Given the description of an element on the screen output the (x, y) to click on. 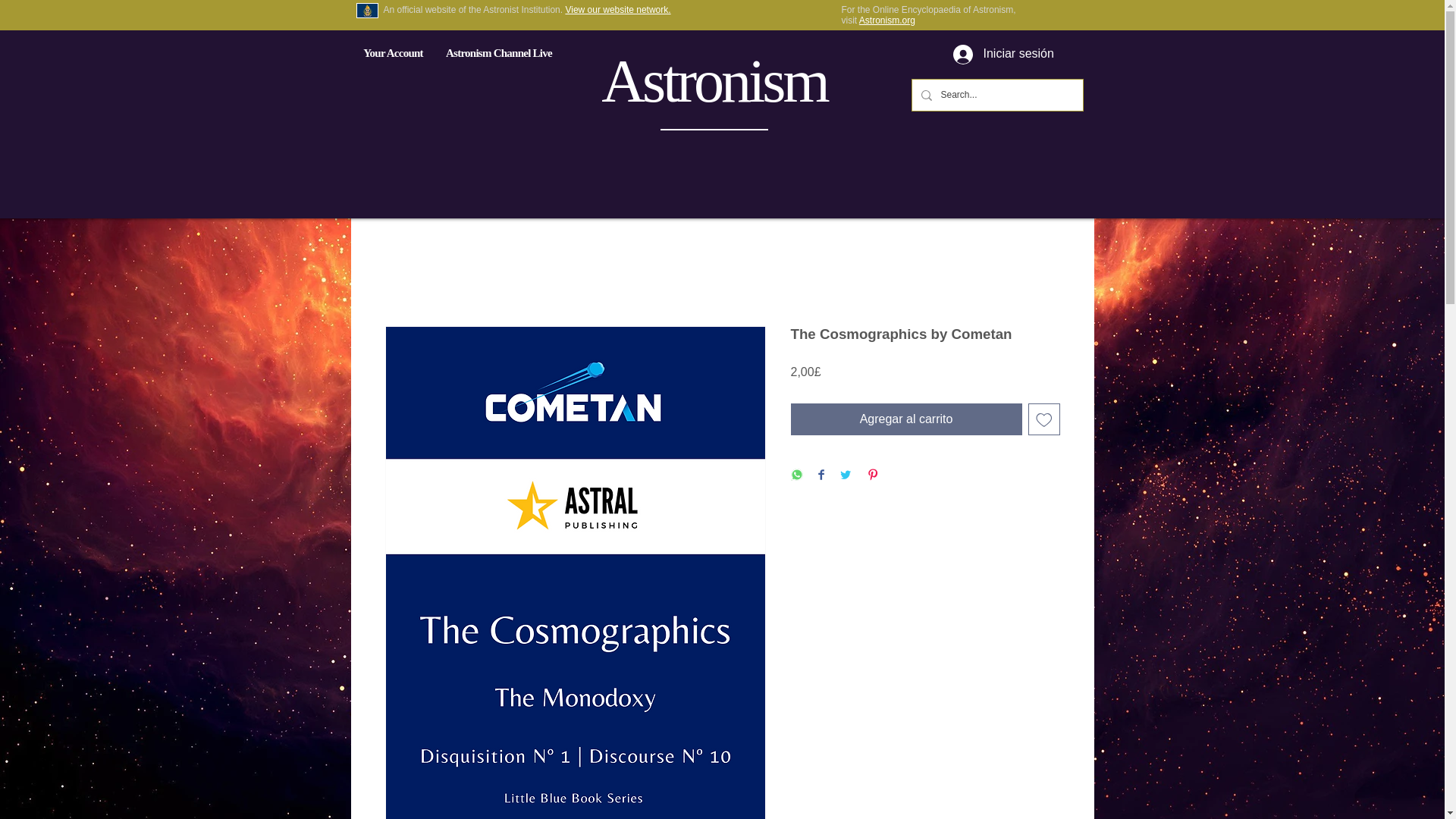
View our website network. (616, 9)
Astronism Channel Live (498, 51)
Your Account (392, 51)
Astronism.org (887, 20)
